Given the description of an element on the screen output the (x, y) to click on. 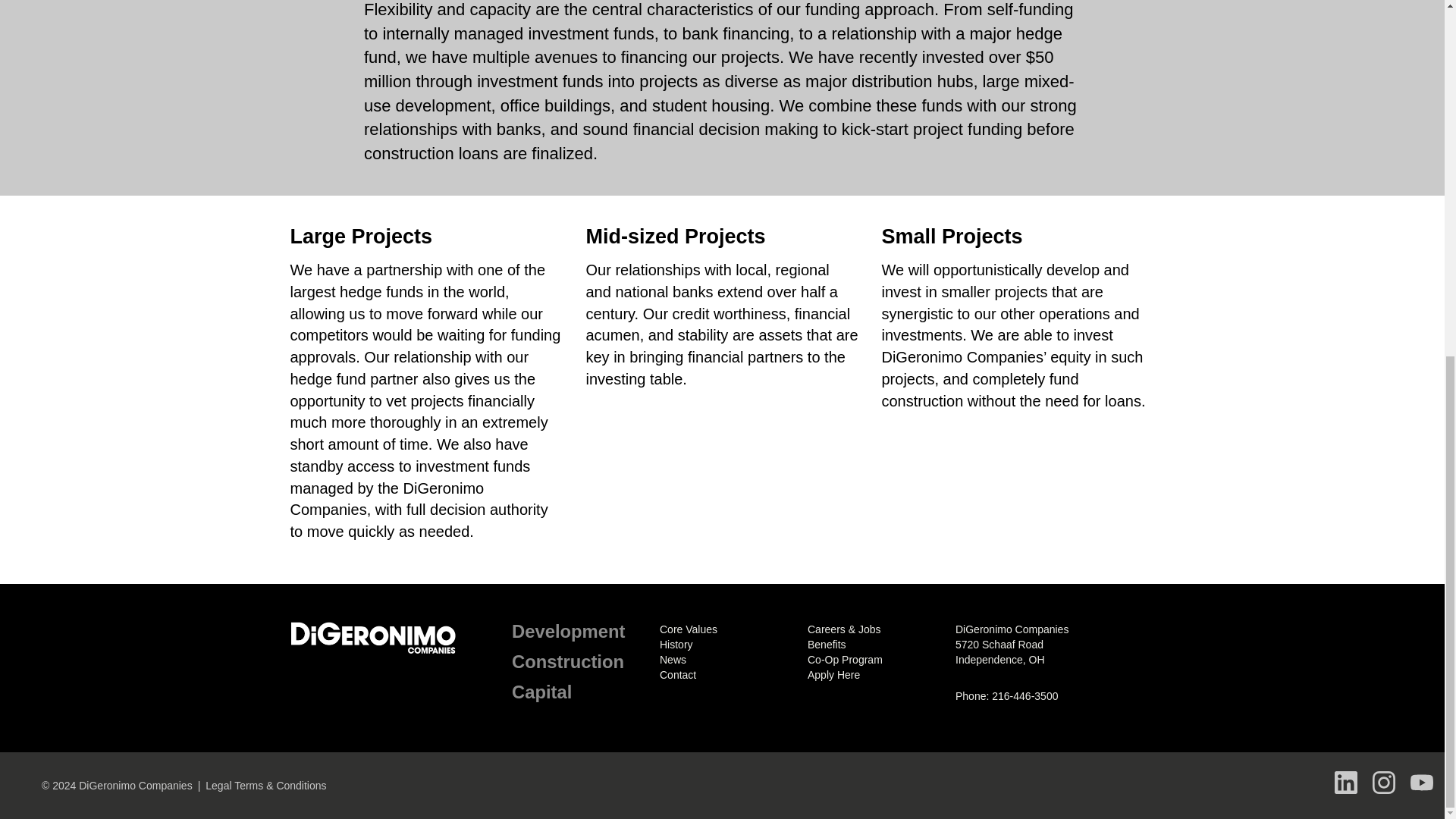
News (672, 659)
History (676, 644)
Development (568, 630)
Benefits (826, 644)
Construction (568, 661)
Digeronimo Companies Instagram (1383, 782)
Core Values (688, 629)
Digeronimo Companies YouTube (1421, 782)
Co-Op Program (845, 659)
Apply Here (834, 674)
